Given the description of an element on the screen output the (x, y) to click on. 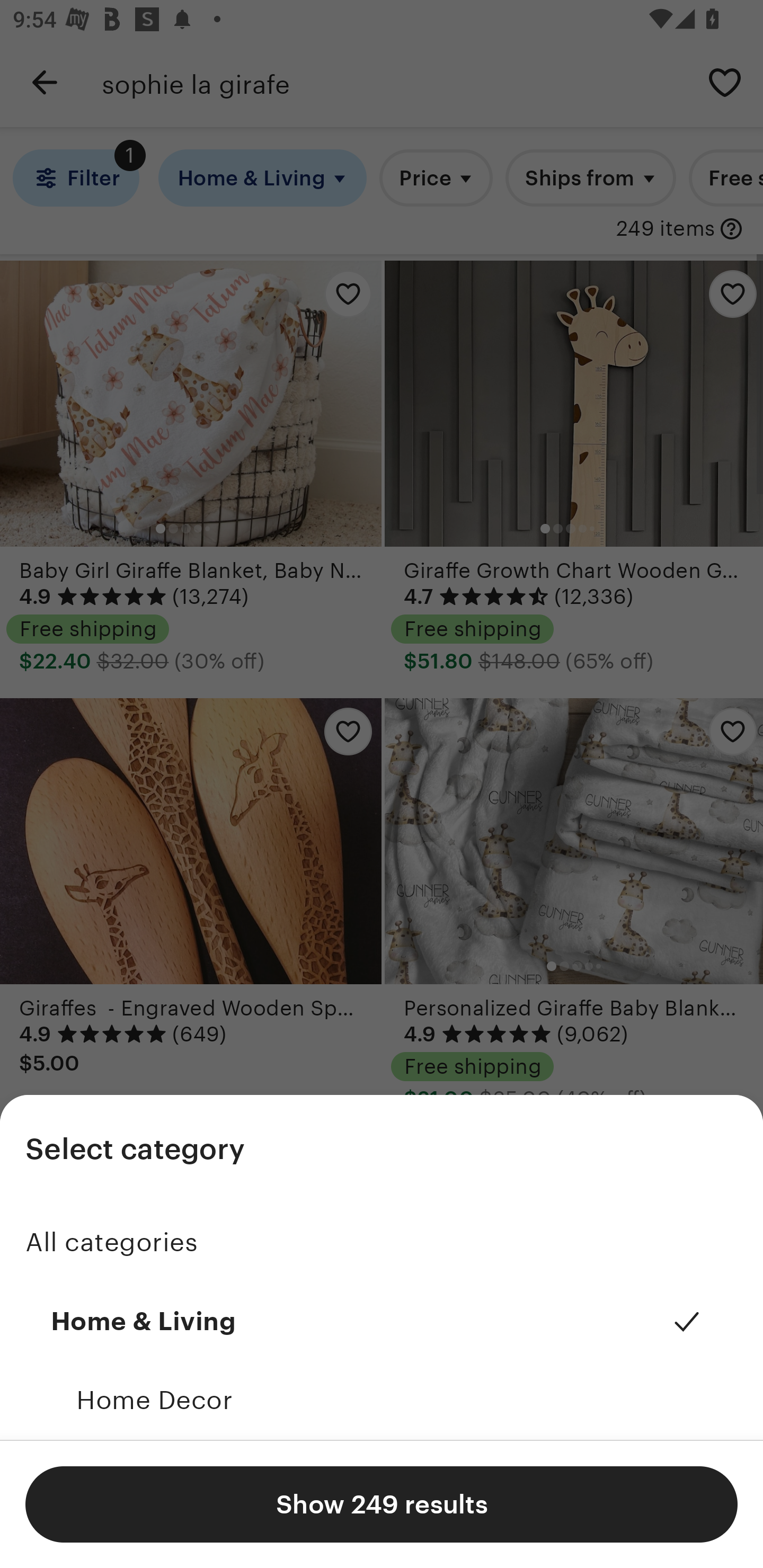
All categories (381, 1242)
Home & Living Selected (381, 1321)
Home Decor (381, 1400)
Show 249 results (381, 1504)
